Given the description of an element on the screen output the (x, y) to click on. 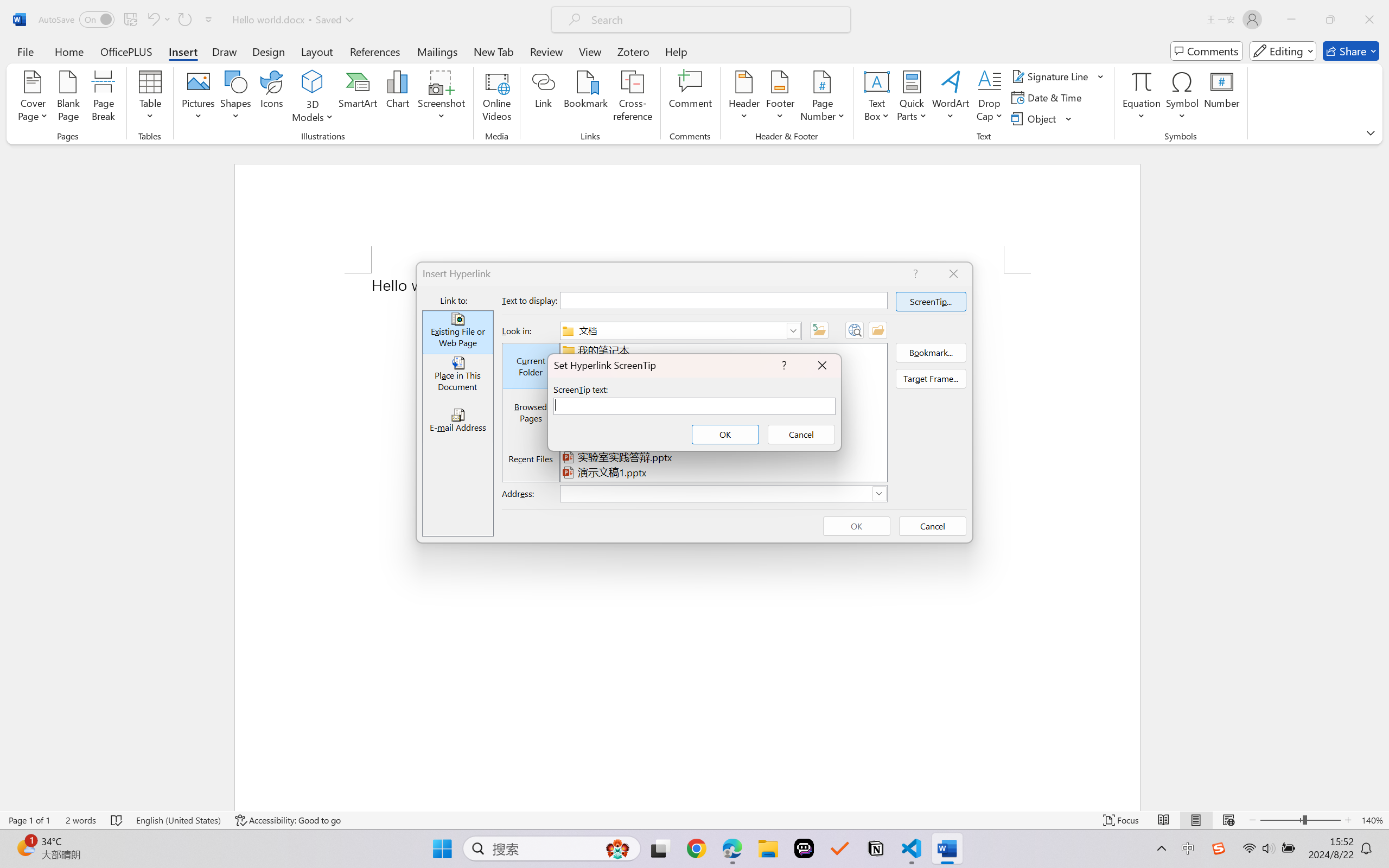
MSO Generic Control Container (457, 376)
Customize Quick Access Toolbar (208, 19)
OfficePLUS (126, 51)
Mailings (437, 51)
Restore Down (1330, 19)
Bookmark... (585, 97)
Notion (875, 848)
AutoSave (76, 19)
Mode (1283, 50)
Zotero (632, 51)
Focus  (1121, 819)
